Given the description of an element on the screen output the (x, y) to click on. 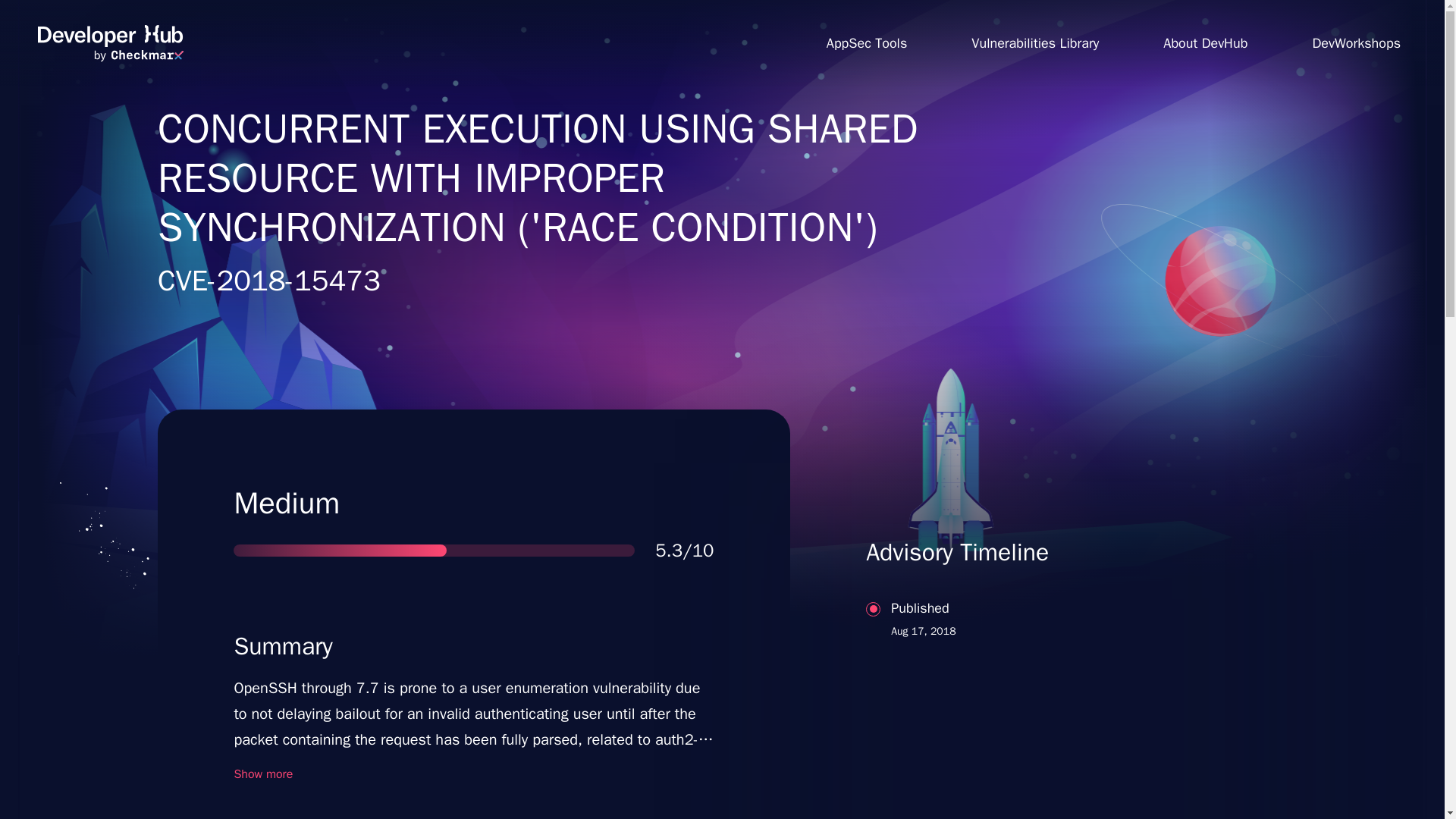
AppSec Tools (866, 43)
About DevHub (1205, 43)
Goto website home page (1037, 678)
Vulnerabilities Library (110, 43)
Show more (1035, 43)
DevWorkshops (262, 773)
